Given the description of an element on the screen output the (x, y) to click on. 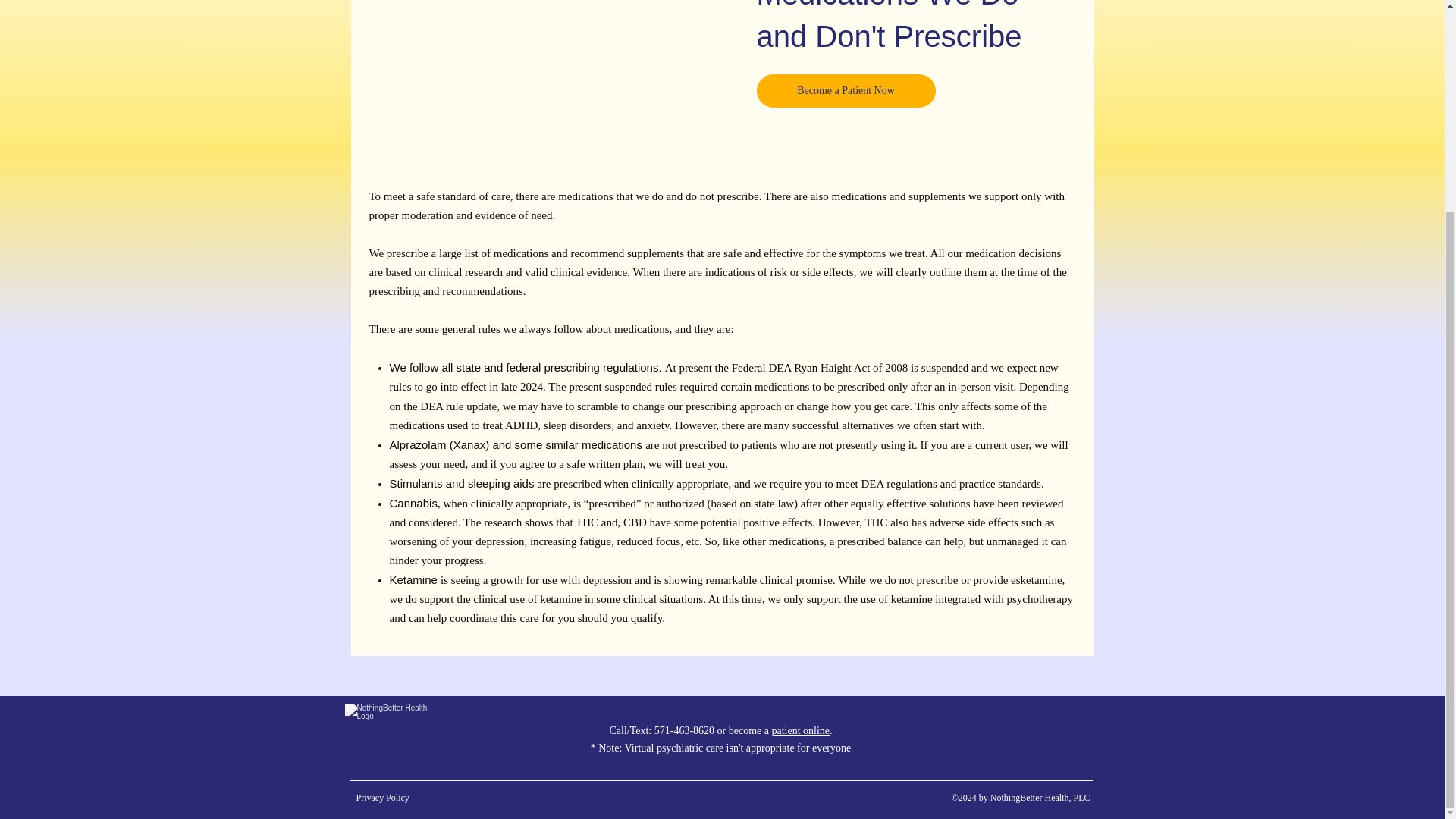
Become a Patient Now (846, 90)
become a patient online (779, 730)
Privacy Policy (382, 797)
